Given the description of an element on the screen output the (x, y) to click on. 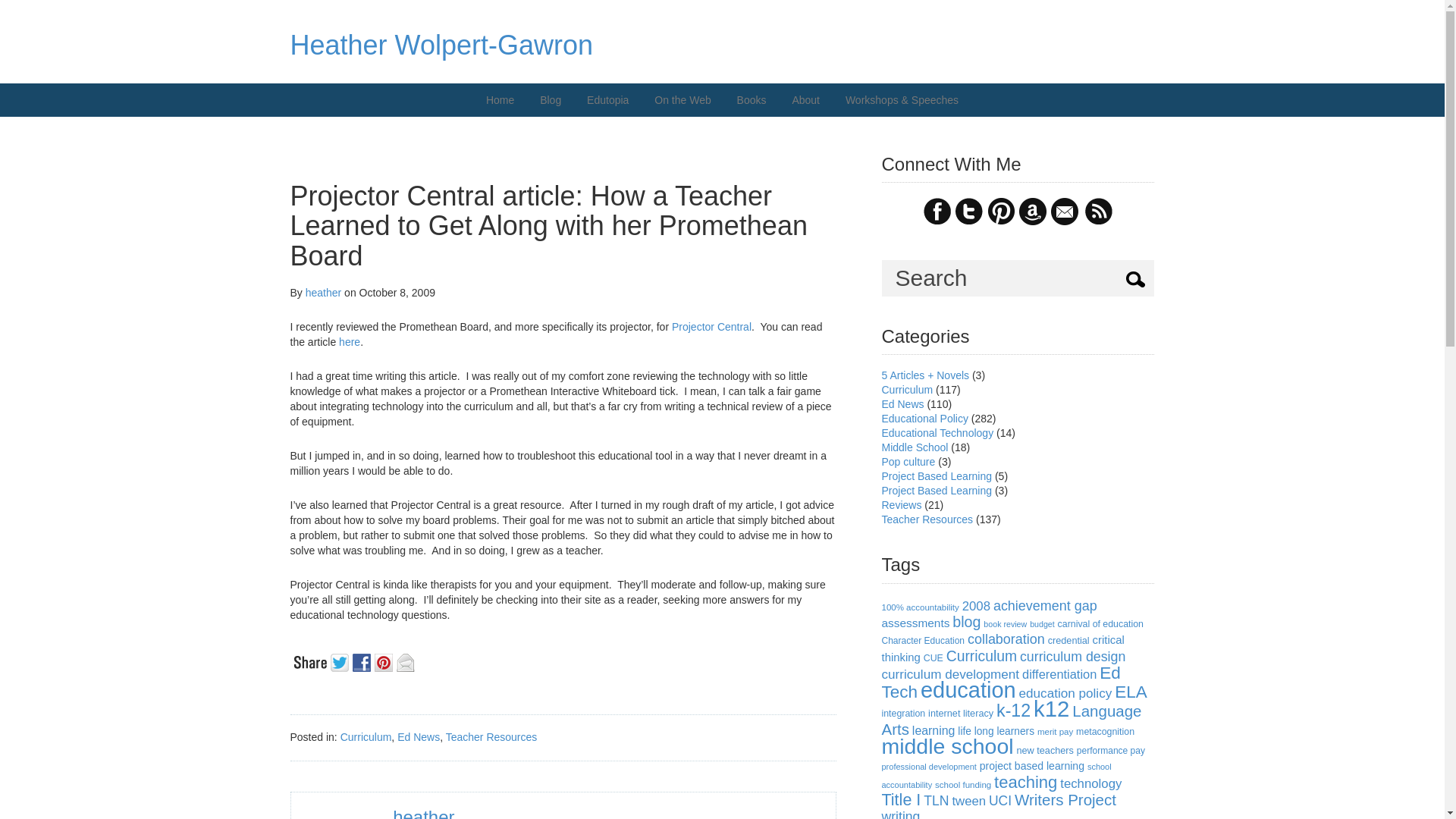
On the Web (682, 100)
Search (1017, 278)
Middle School (913, 447)
Ed News (418, 736)
Home (499, 100)
Posts by heather (322, 292)
Pinterest (385, 660)
On the Web (682, 100)
Blog (550, 100)
Books (751, 100)
Edutopia (607, 100)
Ed News (901, 404)
Curriculum (906, 389)
About (805, 100)
Edutopia (607, 100)
